Given the description of an element on the screen output the (x, y) to click on. 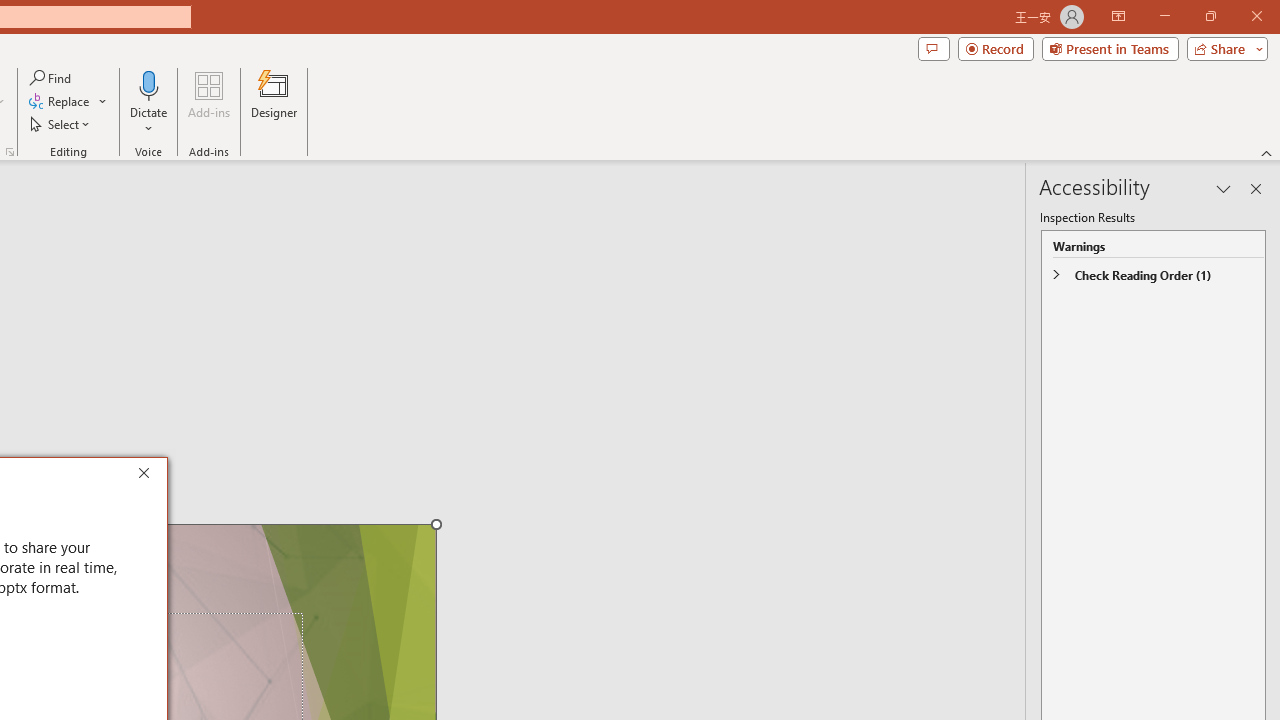
Format Object... (9, 151)
Find... (51, 78)
Select (61, 124)
